Given the description of an element on the screen output the (x, y) to click on. 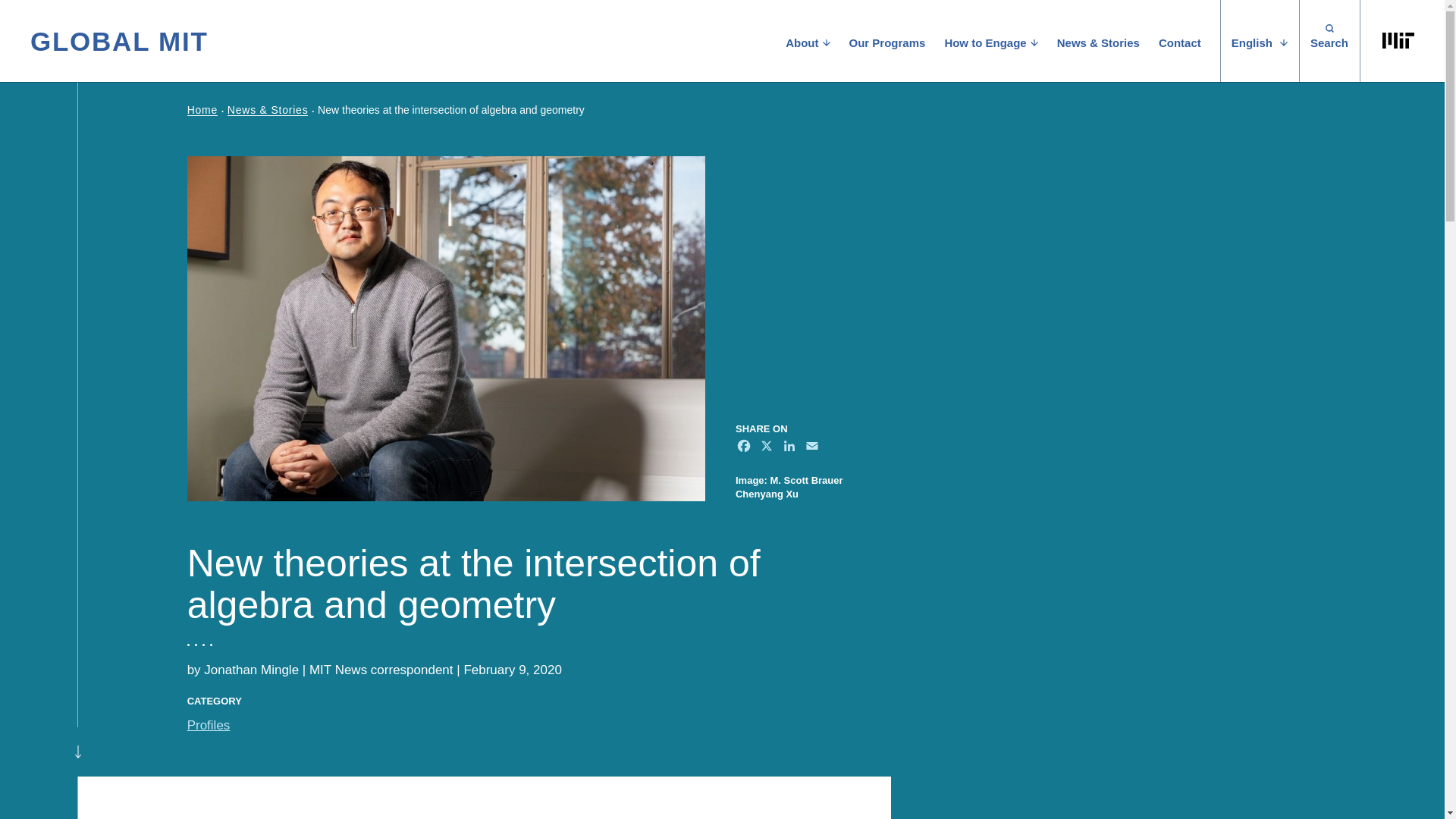
English (1259, 41)
Our Programs (882, 40)
GLOBAL MIT (119, 40)
X (766, 447)
Contact (1173, 40)
Massachusetts Institute of Technology (1397, 40)
Email (810, 447)
Facebook (745, 447)
LinkedIn (788, 447)
